Given the description of an element on the screen output the (x, y) to click on. 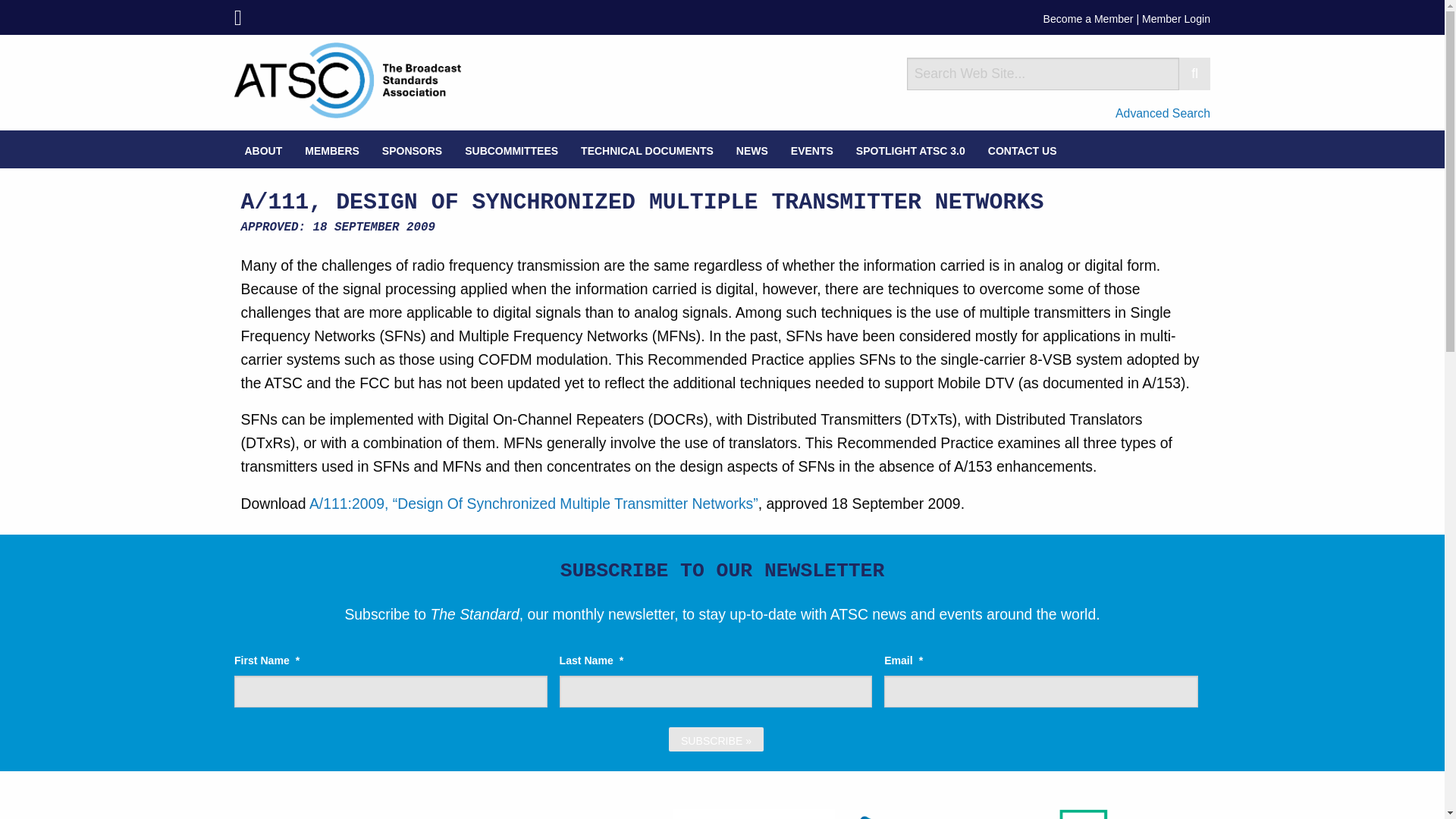
Search for: (1043, 73)
